Given the description of an element on the screen output the (x, y) to click on. 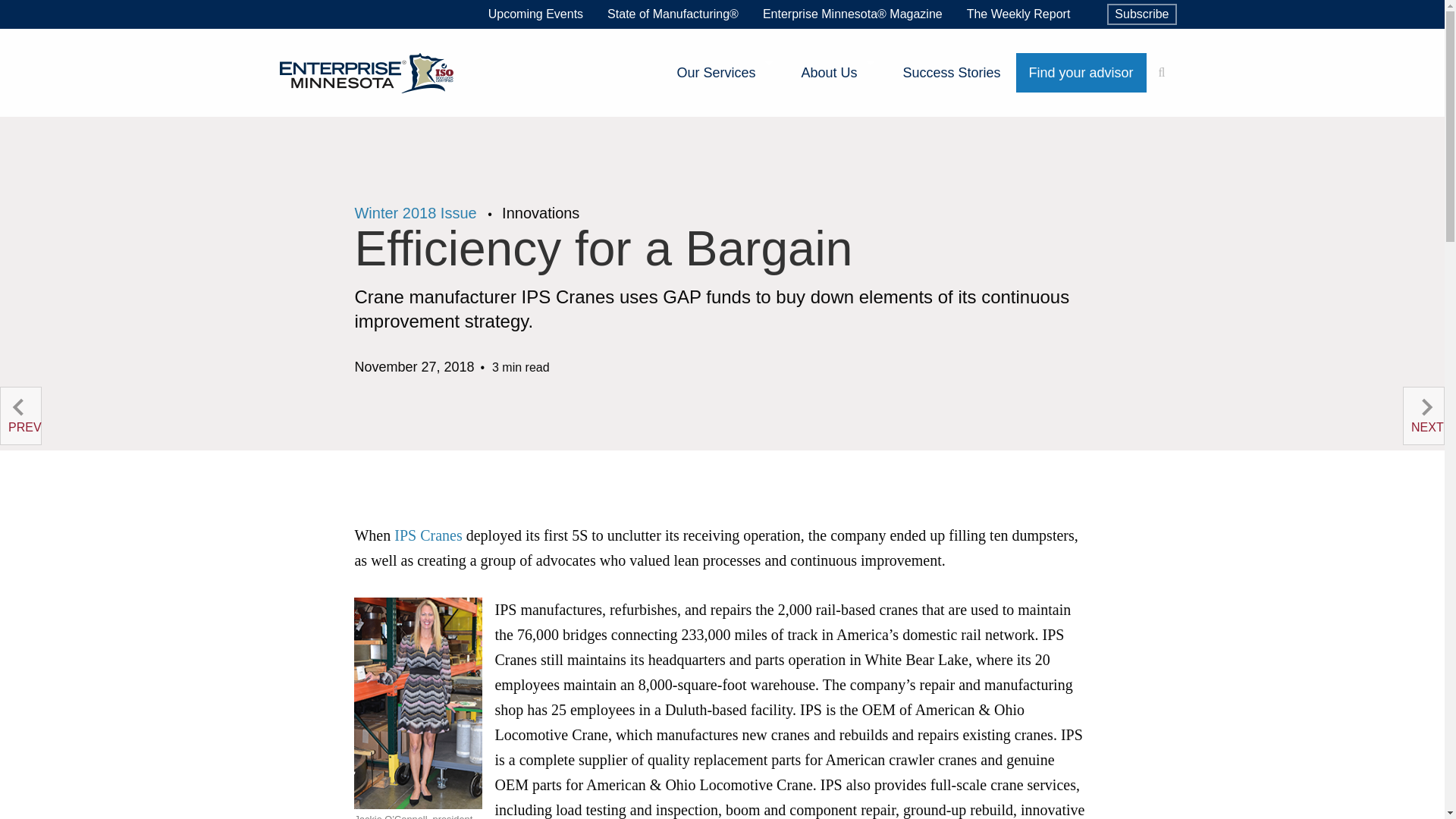
Subscribe (1141, 14)
Our Services (724, 72)
Upcoming Events (535, 14)
The Weekly Report (1019, 14)
